Given the description of an element on the screen output the (x, y) to click on. 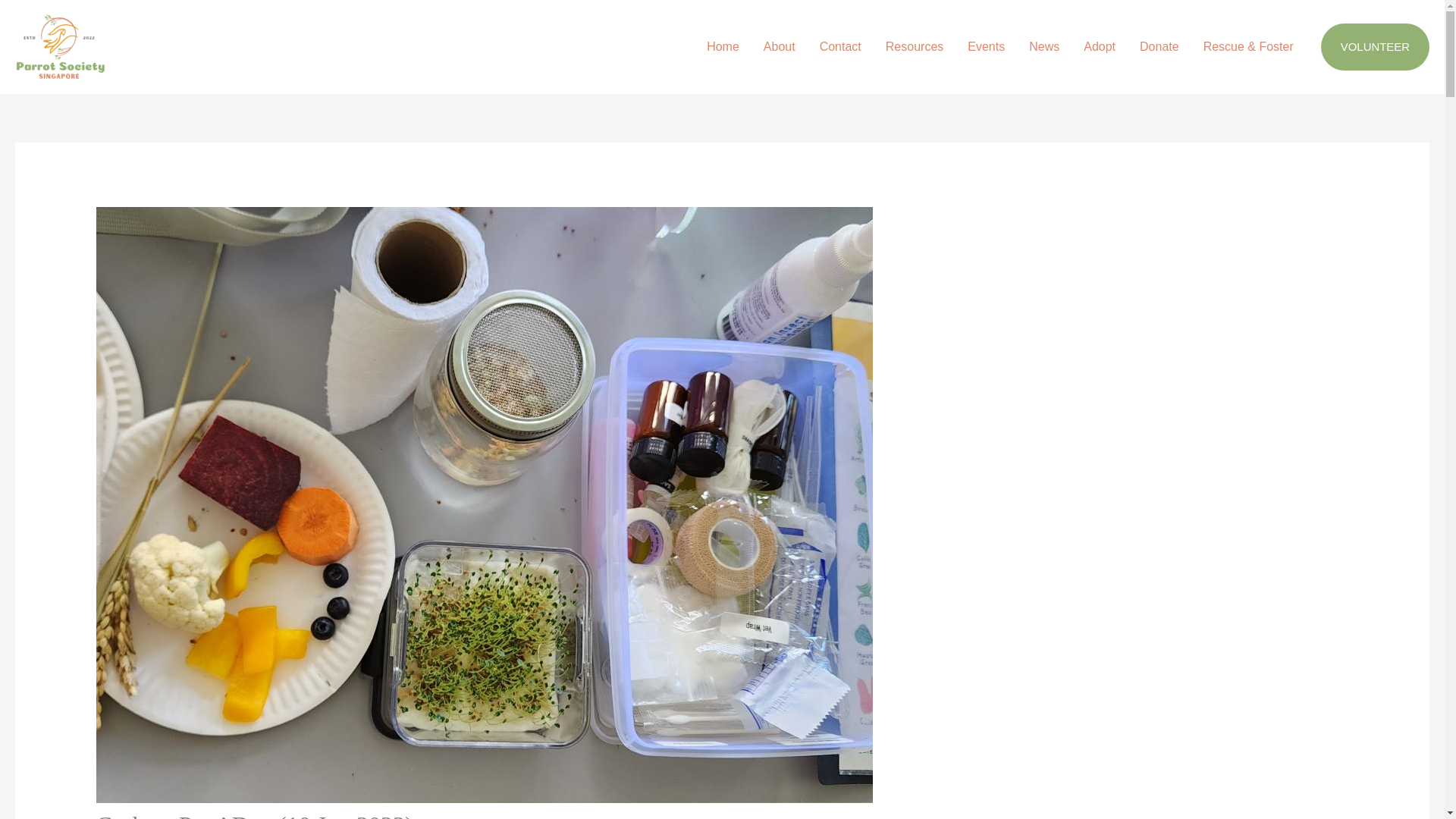
About (779, 46)
Resources (914, 46)
Contact (840, 46)
Home (722, 46)
Donate (1158, 46)
Adopt (1098, 46)
VOLUNTEER (1374, 46)
News (1043, 46)
Events (985, 46)
